Given the description of an element on the screen output the (x, y) to click on. 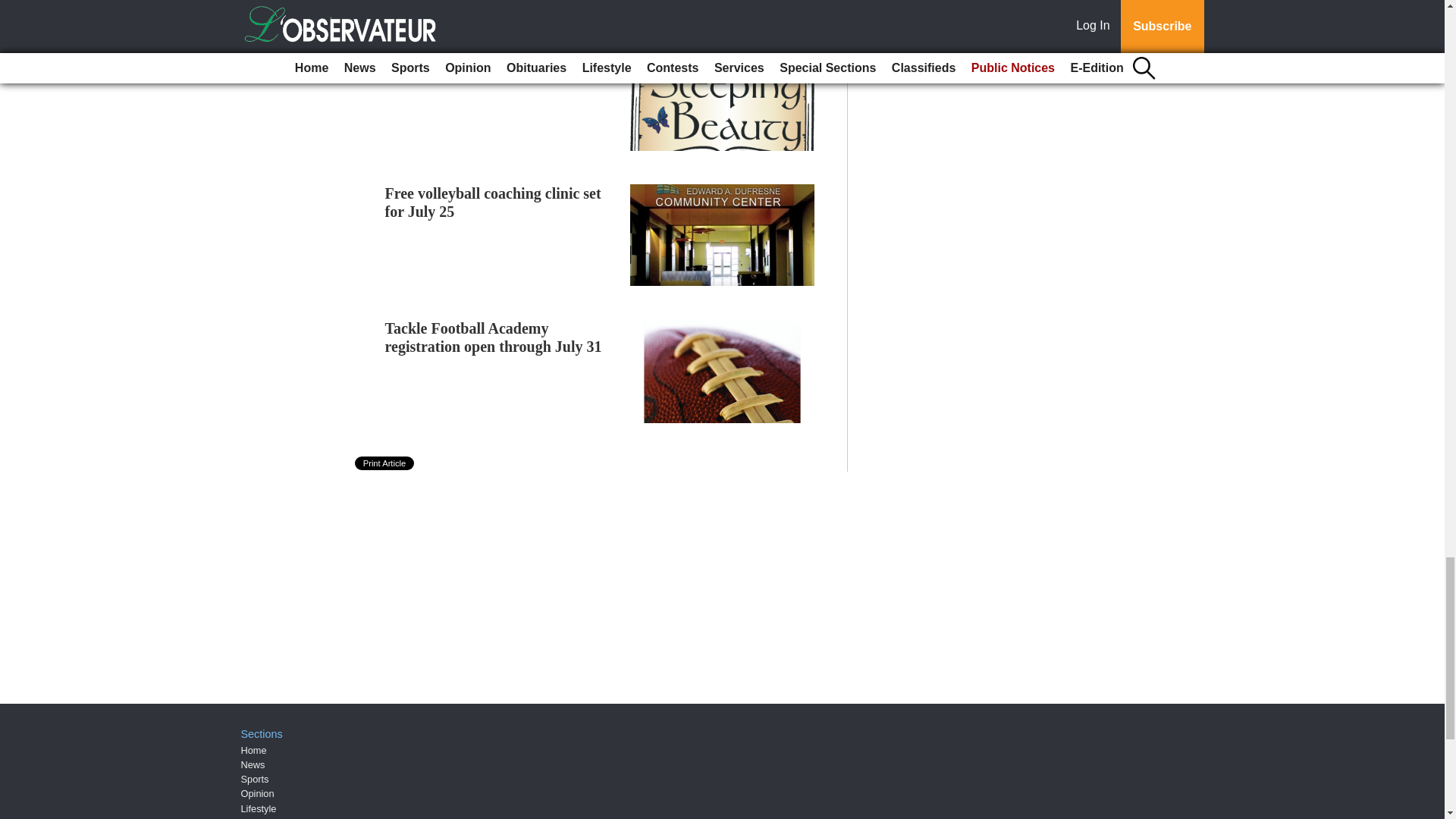
Tackle Football Academy registration open through July 31 (493, 337)
Print Article (384, 463)
Free volleyball coaching clinic set for July 25 (493, 202)
Free volleyball coaching clinic set for July 25 (493, 202)
Tackle Football Academy registration open through July 31 (493, 337)
